Given the description of an element on the screen output the (x, y) to click on. 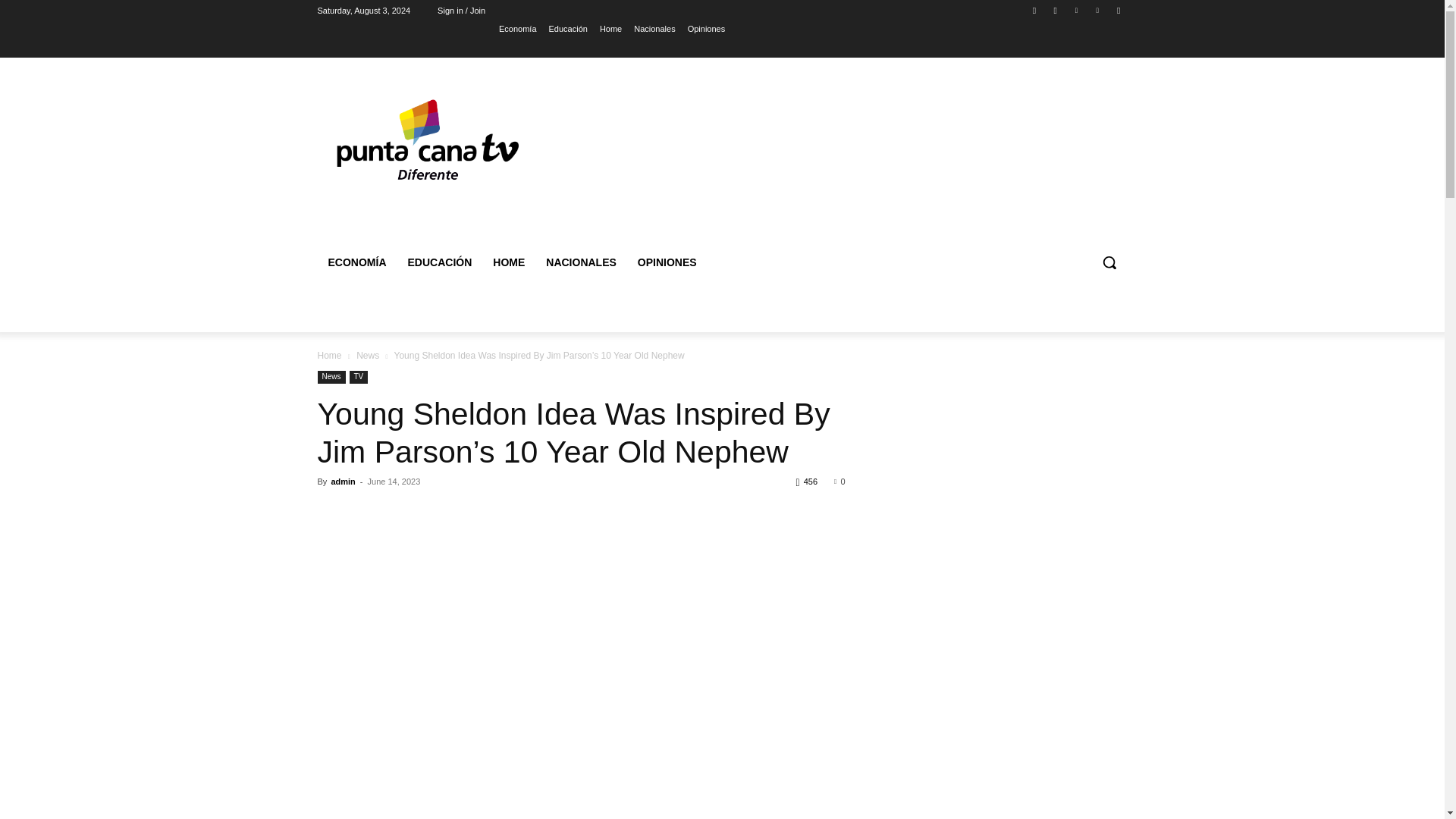
Nacionales (654, 28)
Twitter (1075, 9)
HOME (508, 262)
OPINIONES (667, 262)
Opiniones (706, 28)
View all posts in News (367, 355)
NACIONALES (581, 262)
Home (610, 28)
Instagram (1055, 9)
Vimeo (1097, 9)
Youtube (1117, 9)
Facebook (1034, 9)
